Given the description of an element on the screen output the (x, y) to click on. 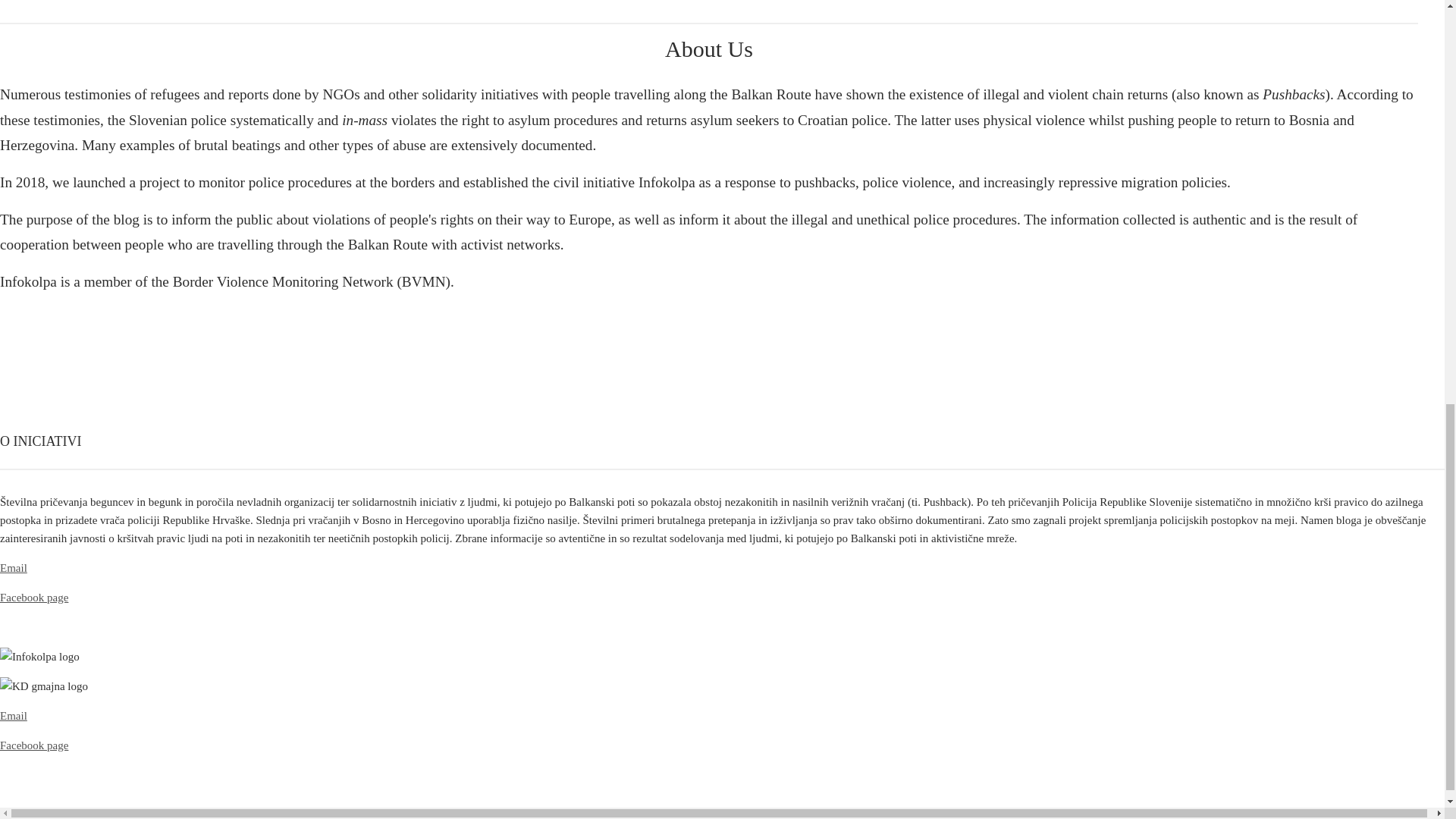
Email (13, 567)
Facebook page (34, 597)
Facebook page (34, 745)
Email (13, 715)
